Given the description of an element on the screen output the (x, y) to click on. 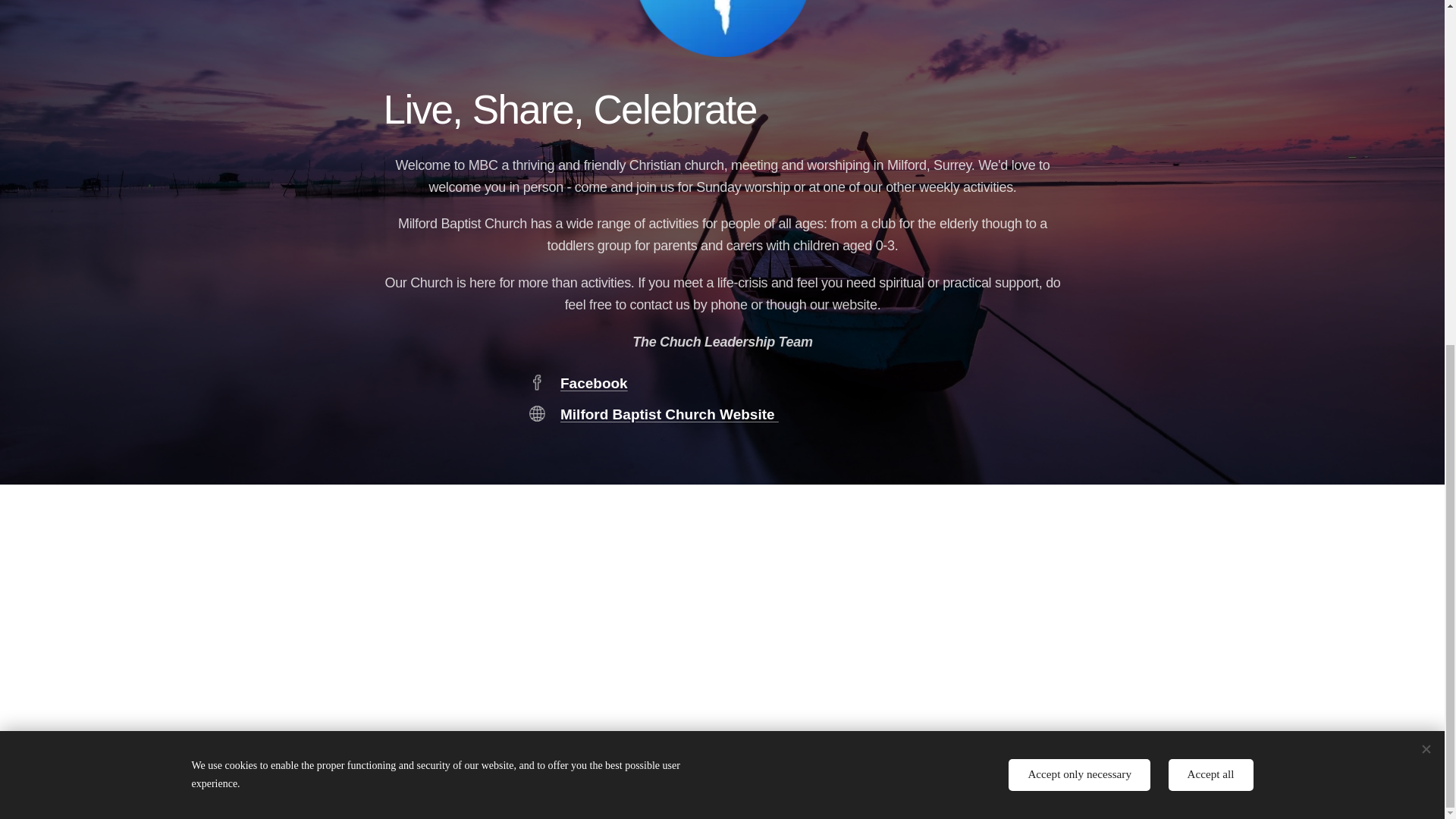
Accept only necessary (1079, 183)
Accept all (1211, 183)
Facebook (593, 383)
Milford Baptist Church Website  (668, 414)
